Given the description of an element on the screen output the (x, y) to click on. 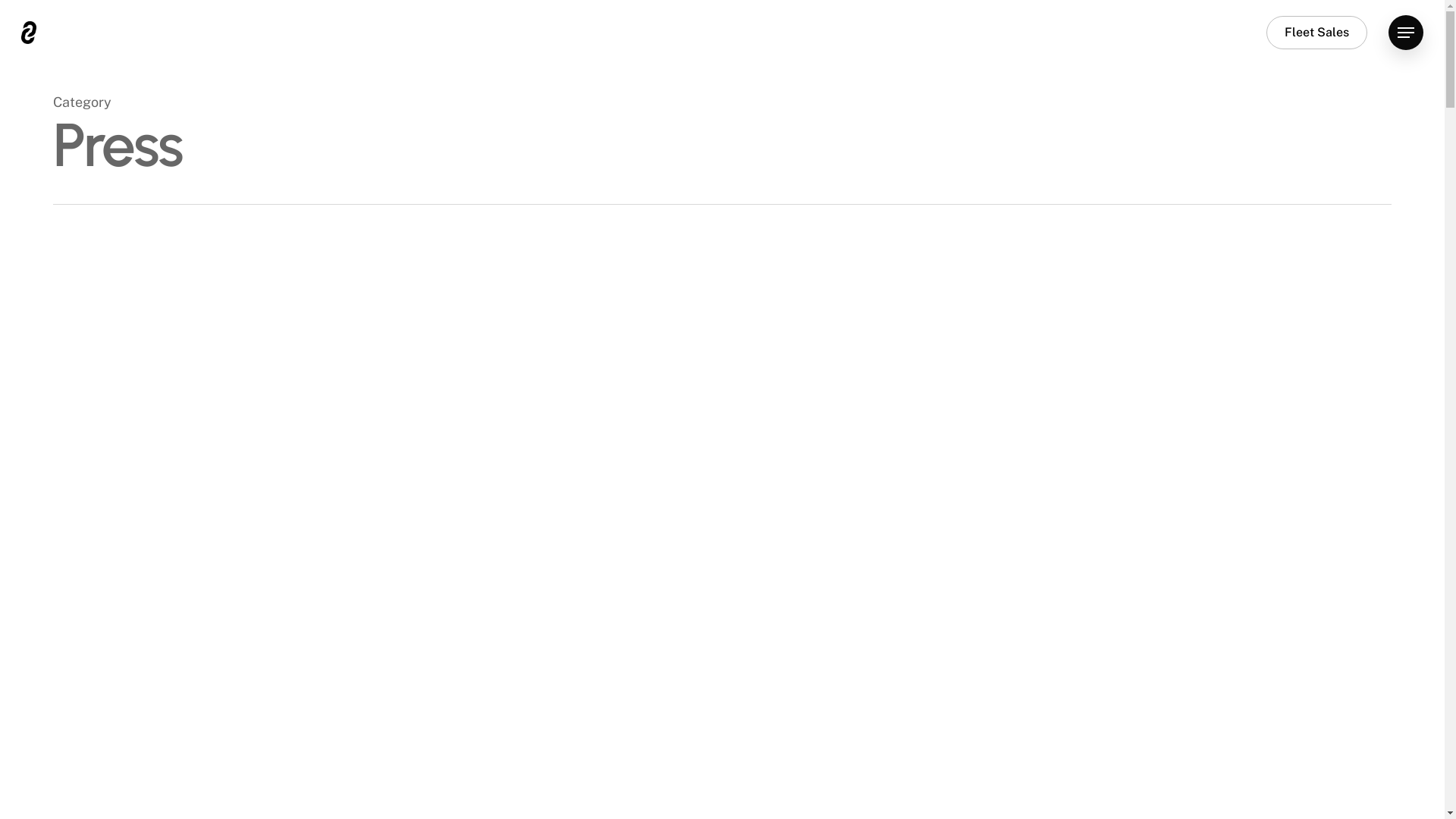
Fleet Sales Element type: text (1316, 32)
Menu Element type: text (1405, 32)
